Given the description of an element on the screen output the (x, y) to click on. 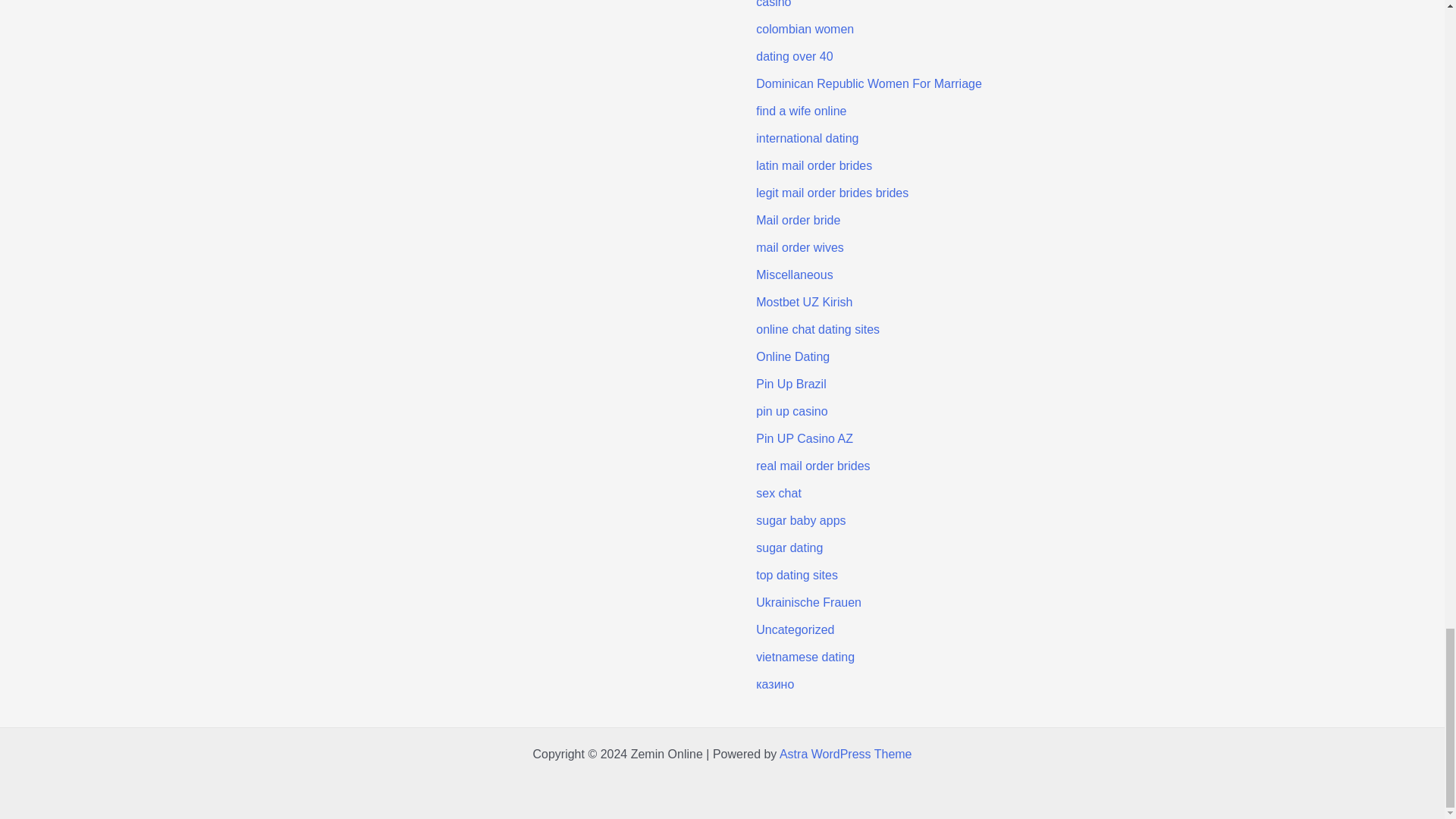
Monopoly Slots: Search Regional Casino (616, 5)
